Given the description of an element on the screen output the (x, y) to click on. 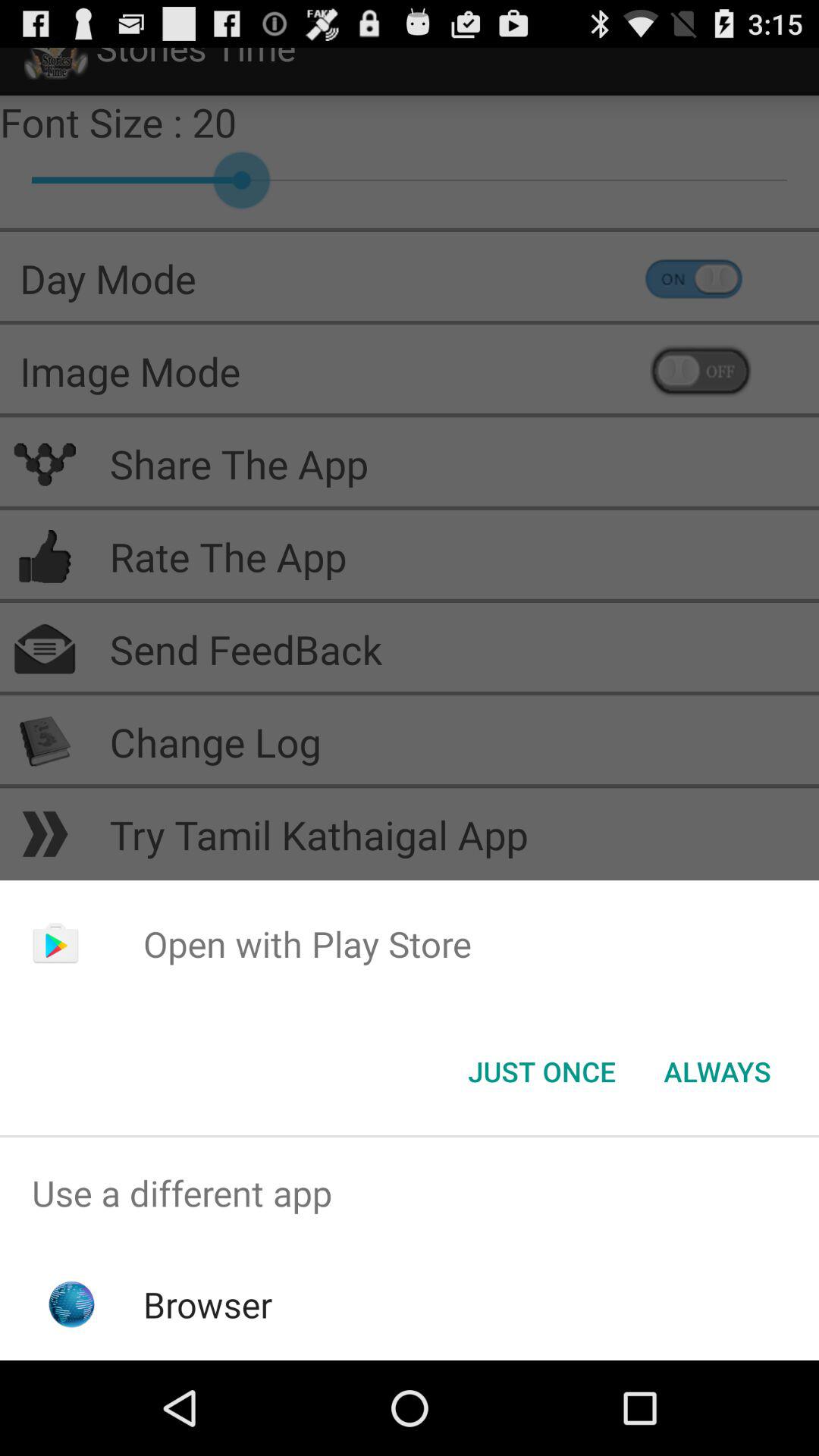
jump until the use a different item (409, 1192)
